Given the description of an element on the screen output the (x, y) to click on. 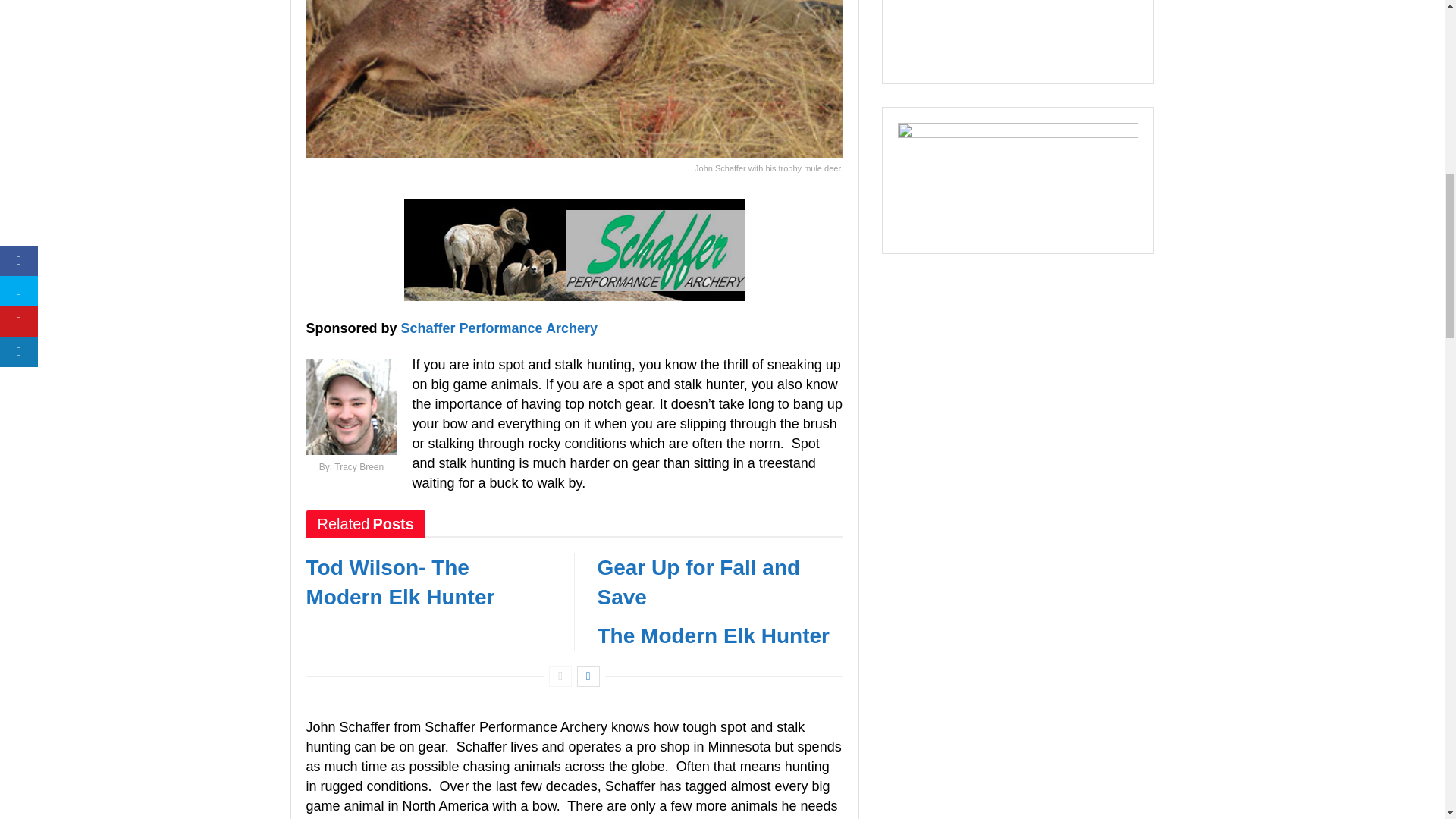
HEAD (573, 250)
Next (587, 676)
Previous (560, 676)
Tracy-Breen-HEAD (351, 406)
